Given the description of an element on the screen output the (x, y) to click on. 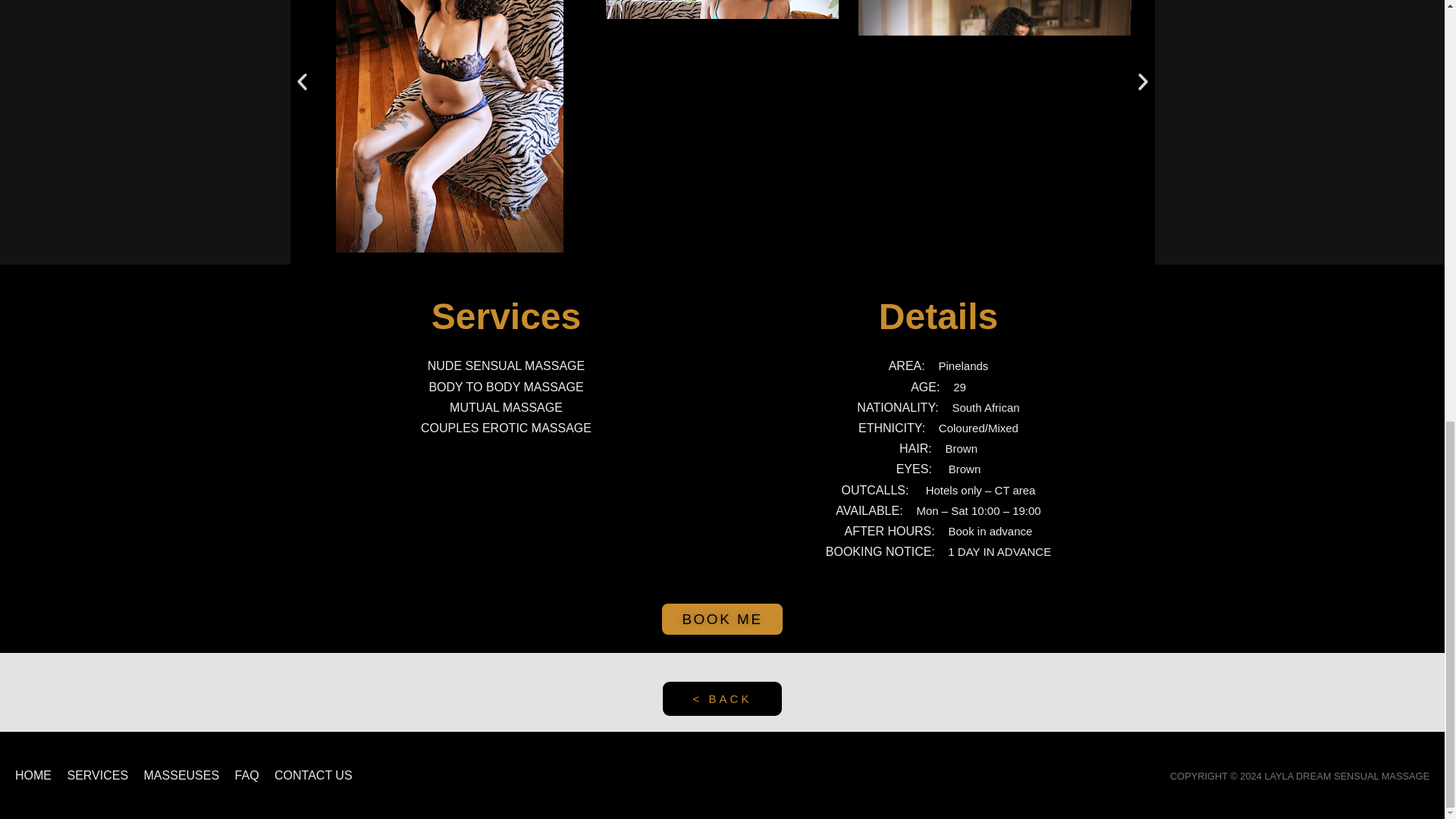
FAQ (252, 775)
SERVICES (102, 775)
BOOK ME (721, 618)
MASSEUSES (187, 775)
CONTACT US (320, 775)
HOME (39, 775)
